Given the description of an element on the screen output the (x, y) to click on. 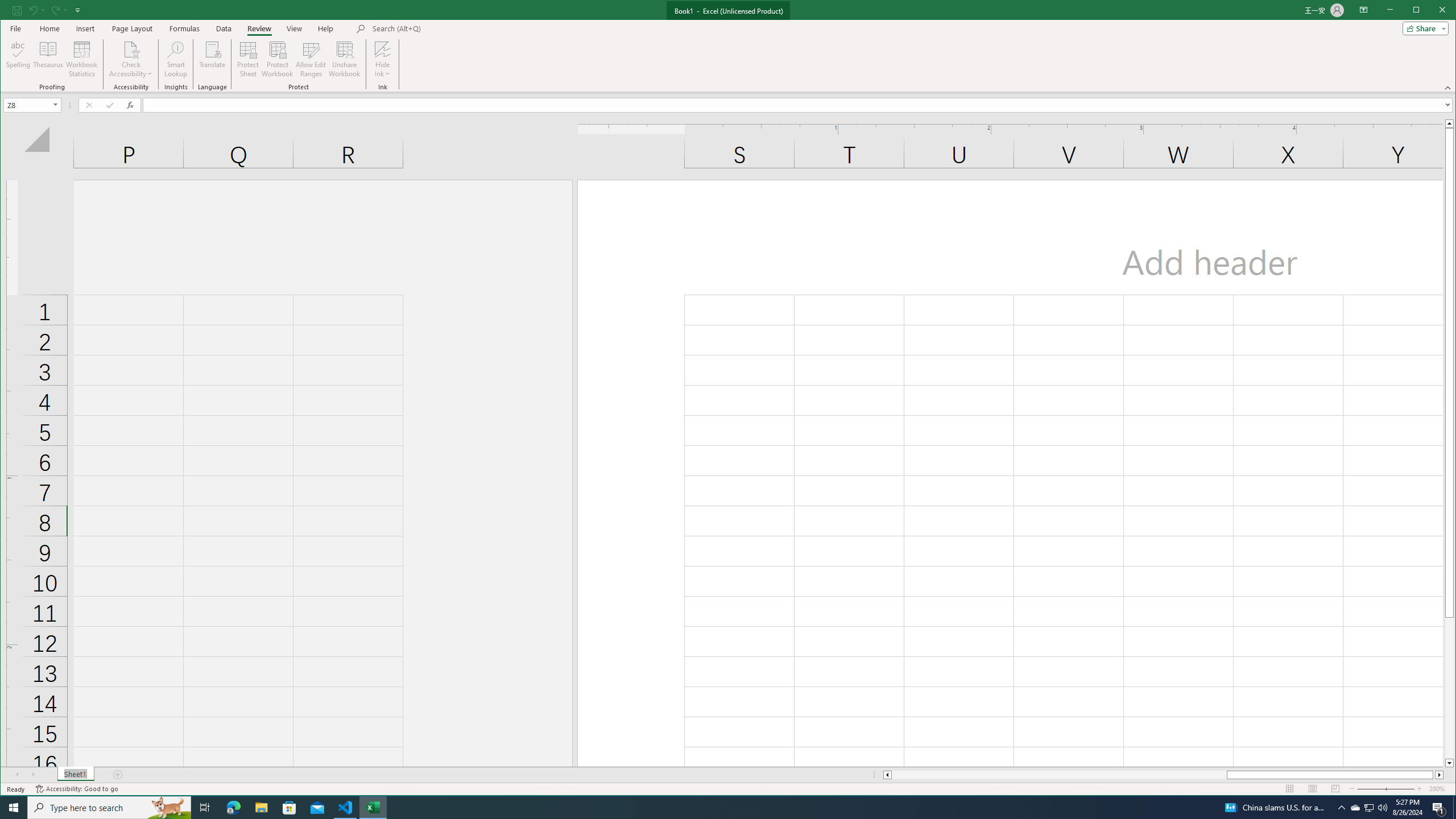
Unshare Workbook (344, 59)
Workbook Statistics (82, 59)
Allow Edit Ranges (310, 59)
